Given the description of an element on the screen output the (x, y) to click on. 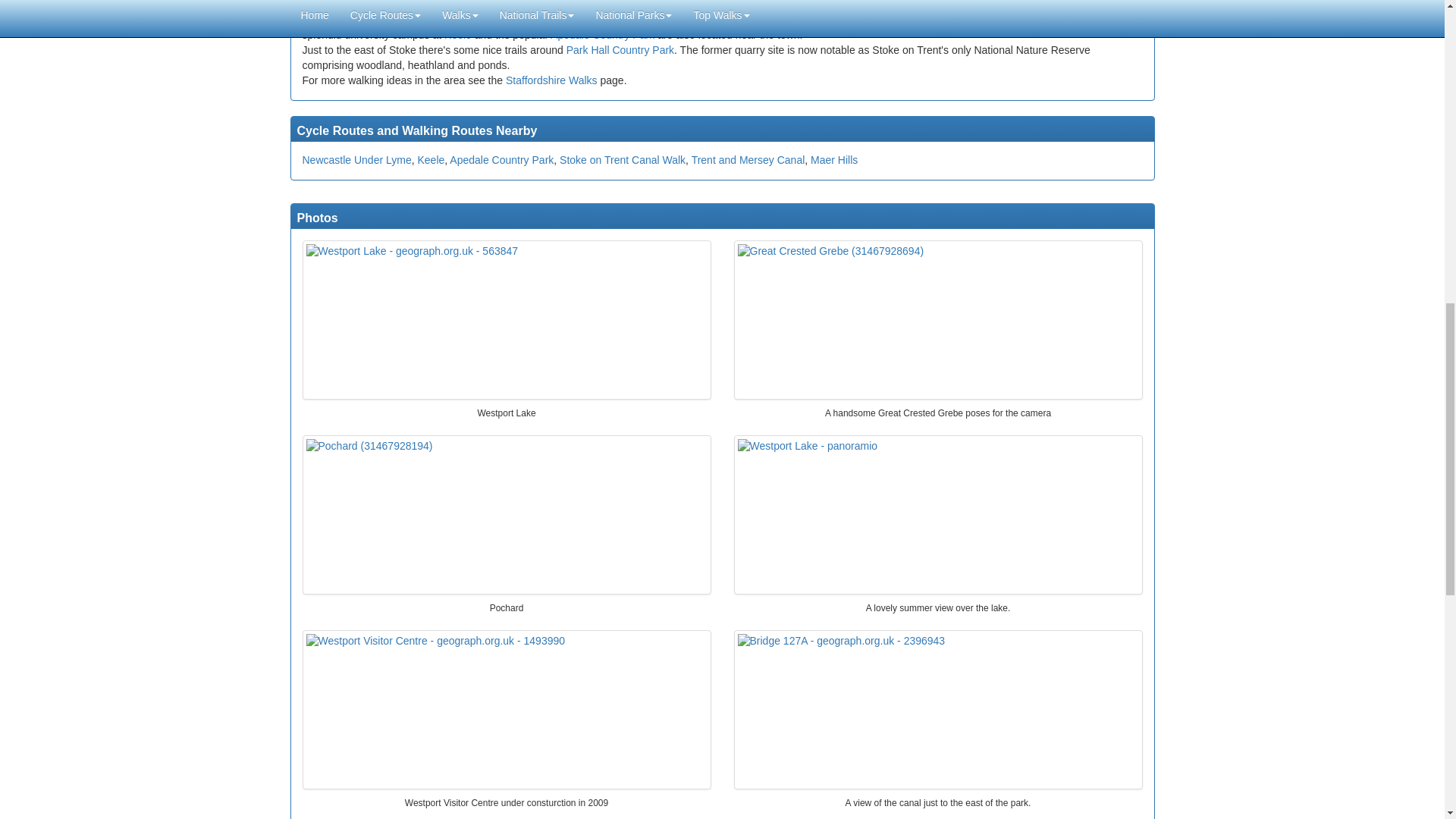
Terry Hughes from Sandbach, UK, CC0, via Wikimedia Commons (937, 319)
Terry Hughes from Sandbach, UK, CC0, via Wikimedia Commons (506, 514)
